Given the description of an element on the screen output the (x, y) to click on. 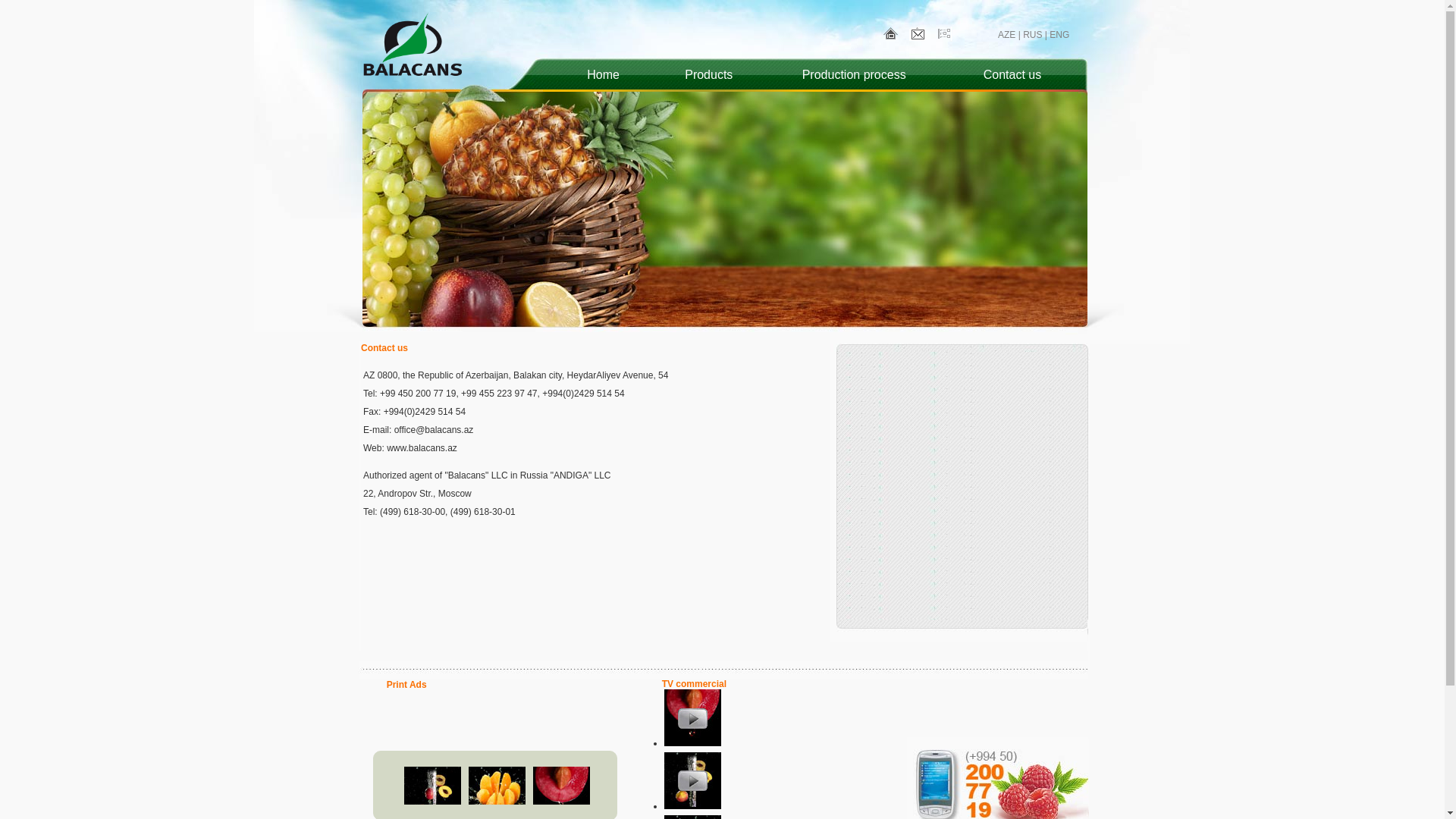
Production process Element type: text (854, 74)
Home Element type: text (602, 74)
Contact us Element type: text (1012, 74)
ENG Element type: text (1059, 34)
RUS Element type: text (1031, 34)
Products Element type: text (708, 74)
AZE Element type: text (1006, 34)
